Given the description of an element on the screen output the (x, y) to click on. 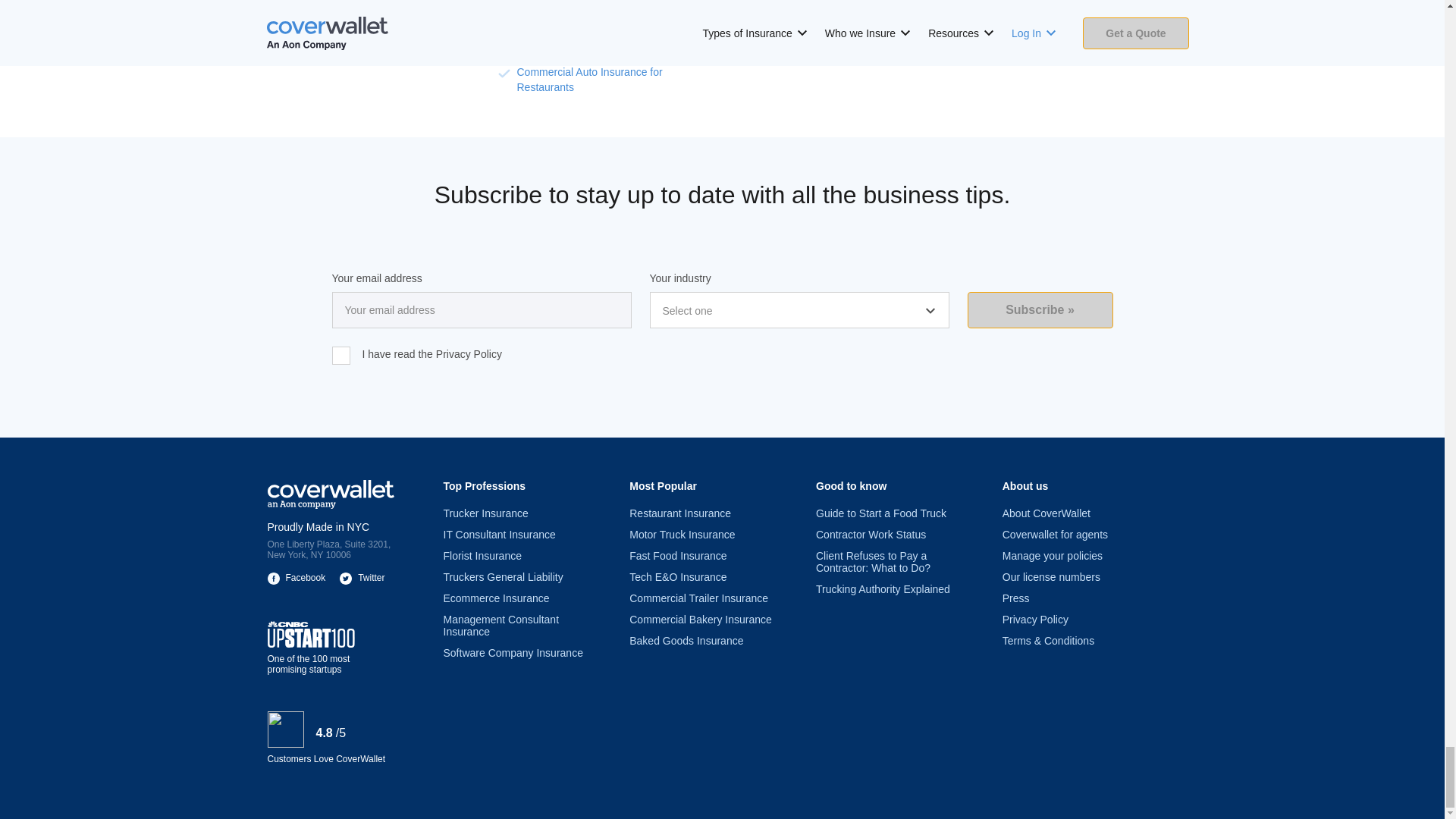
on (340, 355)
